Given the description of an element on the screen output the (x, y) to click on. 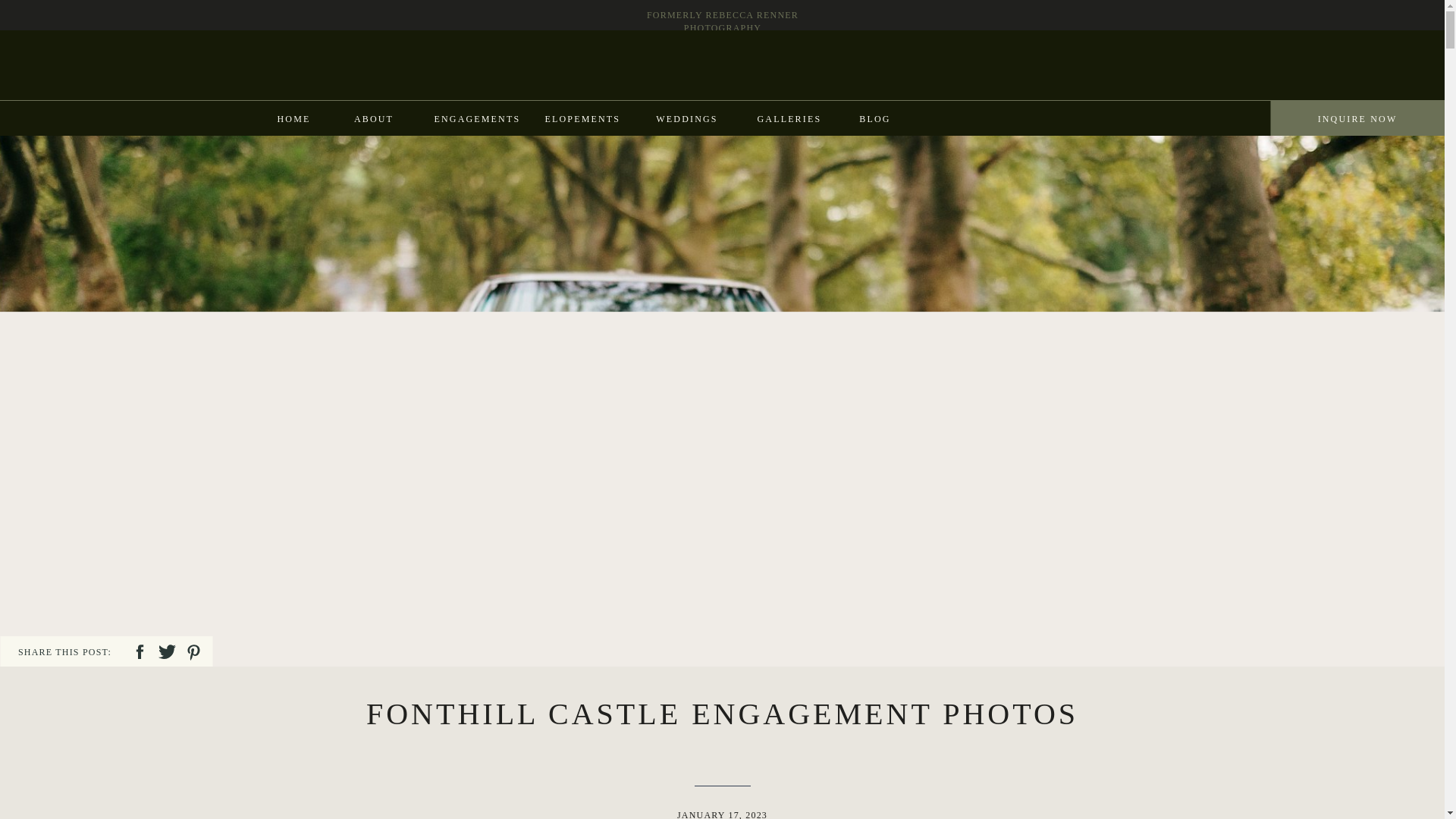
BLOG (874, 118)
ABOUT (372, 118)
ELOPEMENTS (580, 118)
WEDDINGS (686, 118)
HOME (294, 118)
GALLERIES (788, 118)
ENGAGEMENTS (474, 118)
INQUIRE NOW (1356, 118)
